Given the description of an element on the screen output the (x, y) to click on. 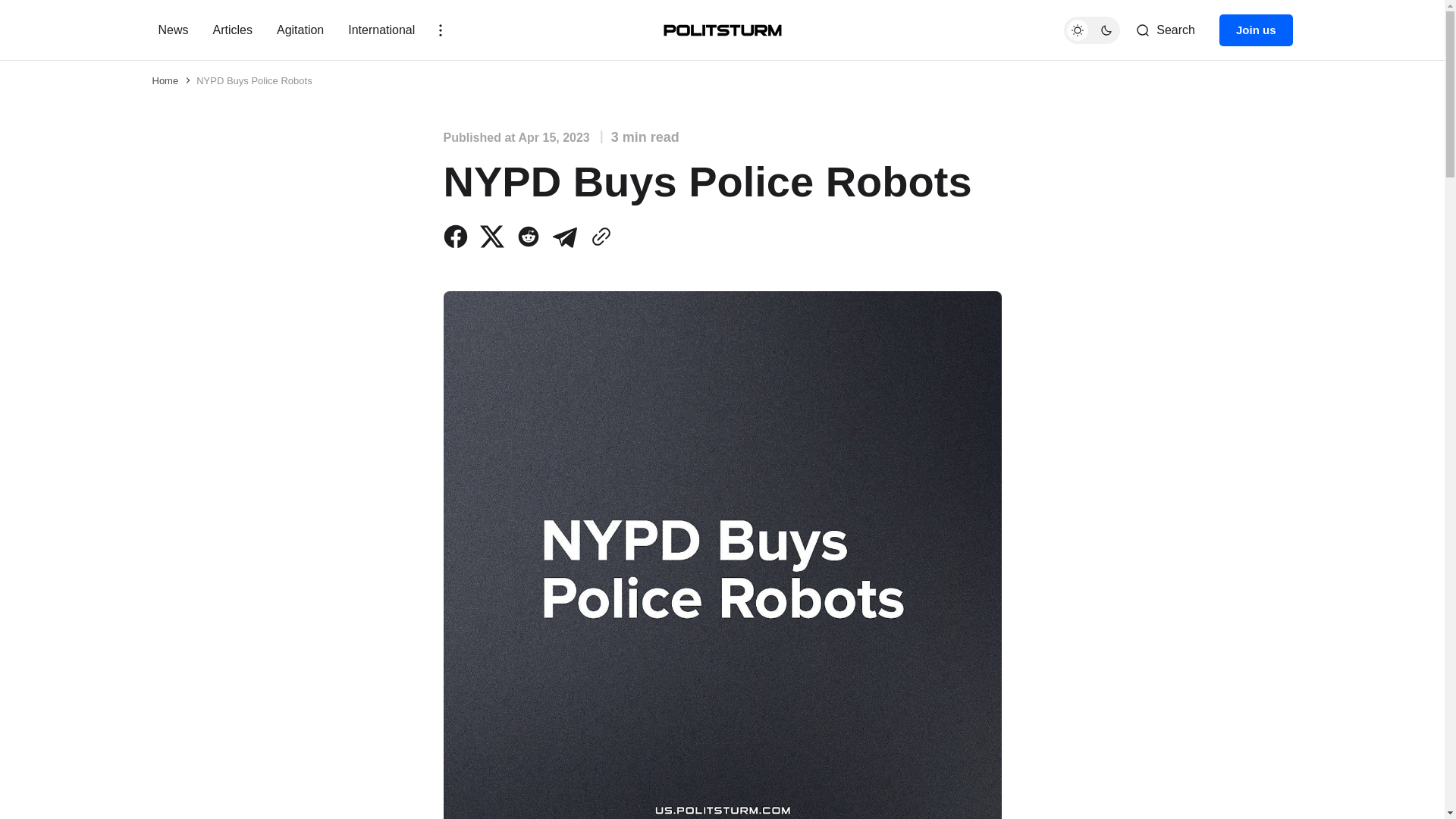
Search (1165, 29)
International (381, 29)
Home (164, 80)
Search button (1165, 29)
Join us (1256, 29)
NYPD Buys Police Robots (253, 80)
Agitation (300, 29)
News (175, 29)
Articles (232, 29)
